Given the description of an element on the screen output the (x, y) to click on. 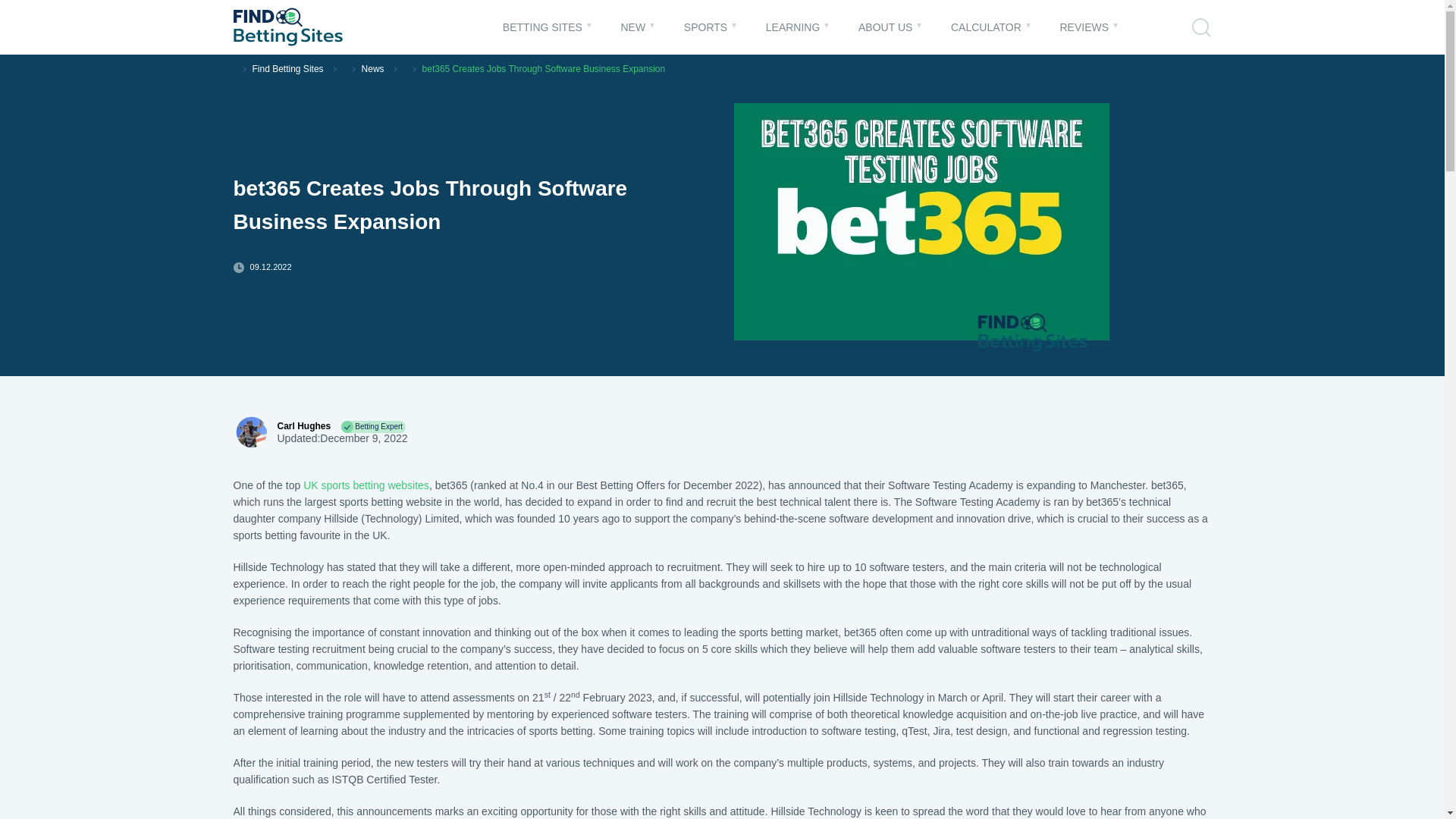
Go to Find Betting Sites. (287, 68)
Go to News. (372, 68)
BETTING SITES (541, 27)
